Given the description of an element on the screen output the (x, y) to click on. 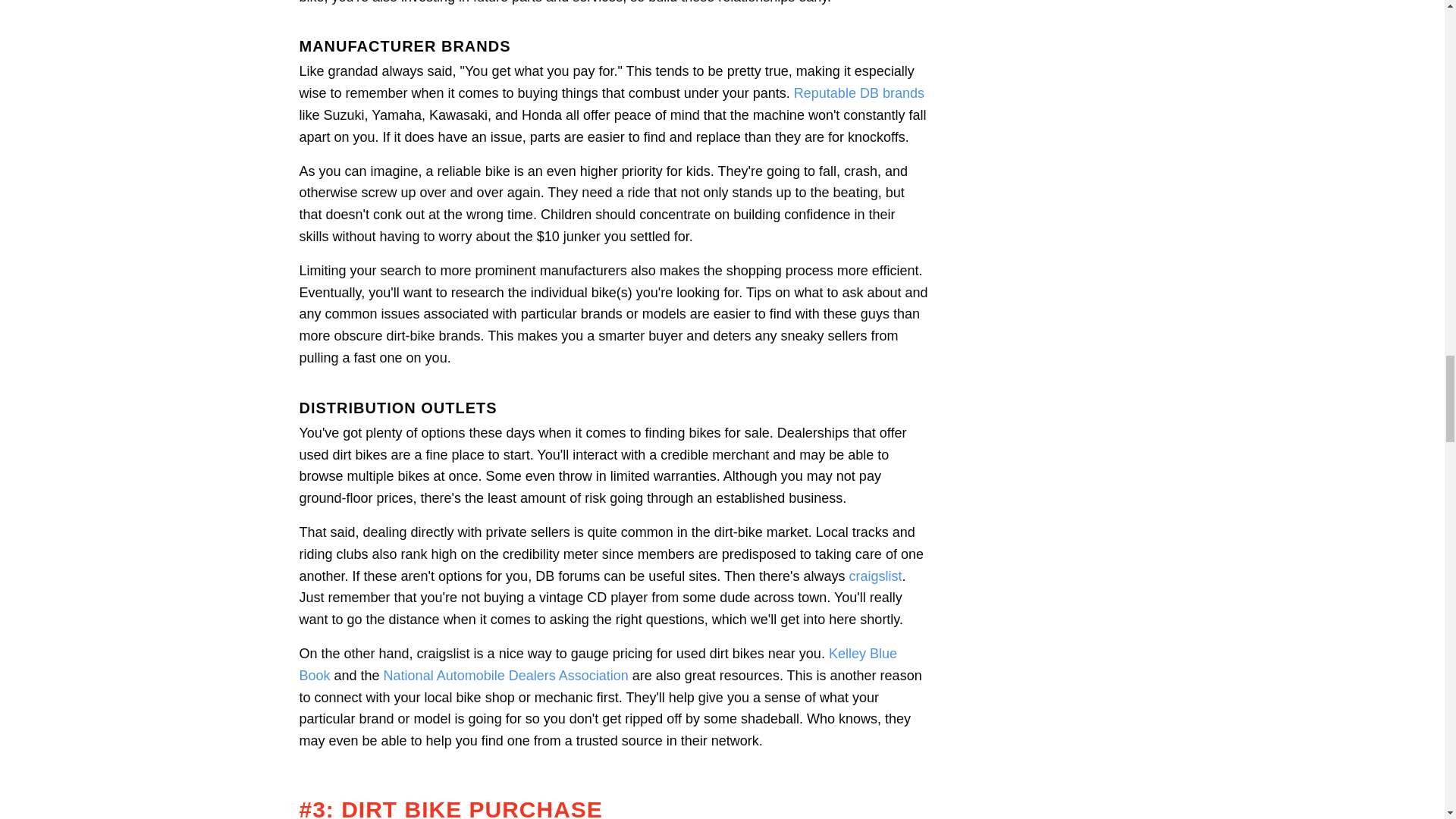
National Automobile Dealers Association (506, 675)
Kelley Blue Book (597, 664)
Reputable DB brands (858, 92)
craigslist (874, 575)
